Given the description of an element on the screen output the (x, y) to click on. 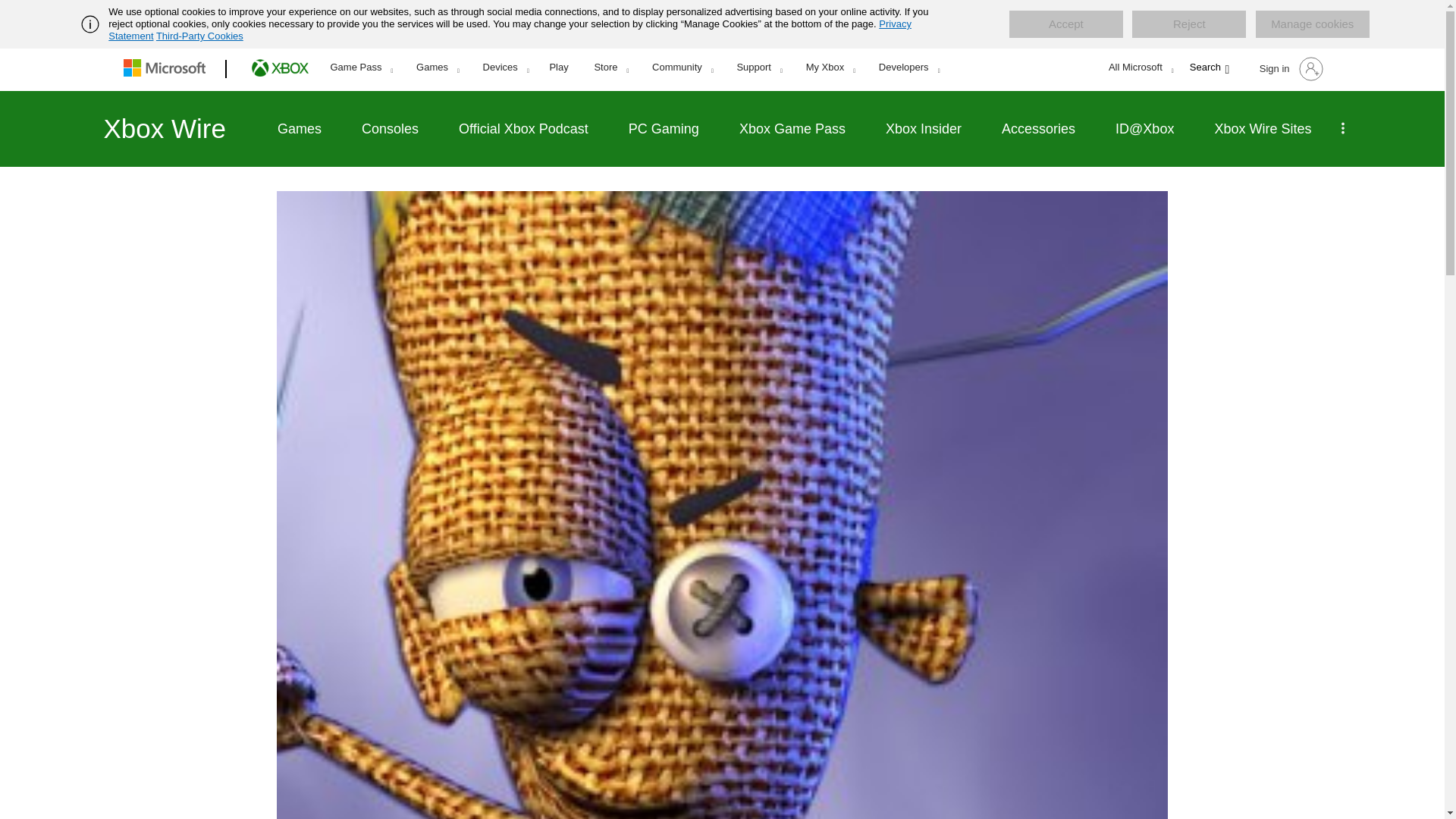
Game Pass (360, 67)
Accept (1065, 23)
Third-Party Cookies (199, 35)
Manage cookies (1312, 23)
Reject (1189, 23)
Privacy Statement (509, 29)
Microsoft (167, 69)
Devices (505, 67)
Games (437, 67)
